Given the description of an element on the screen output the (x, y) to click on. 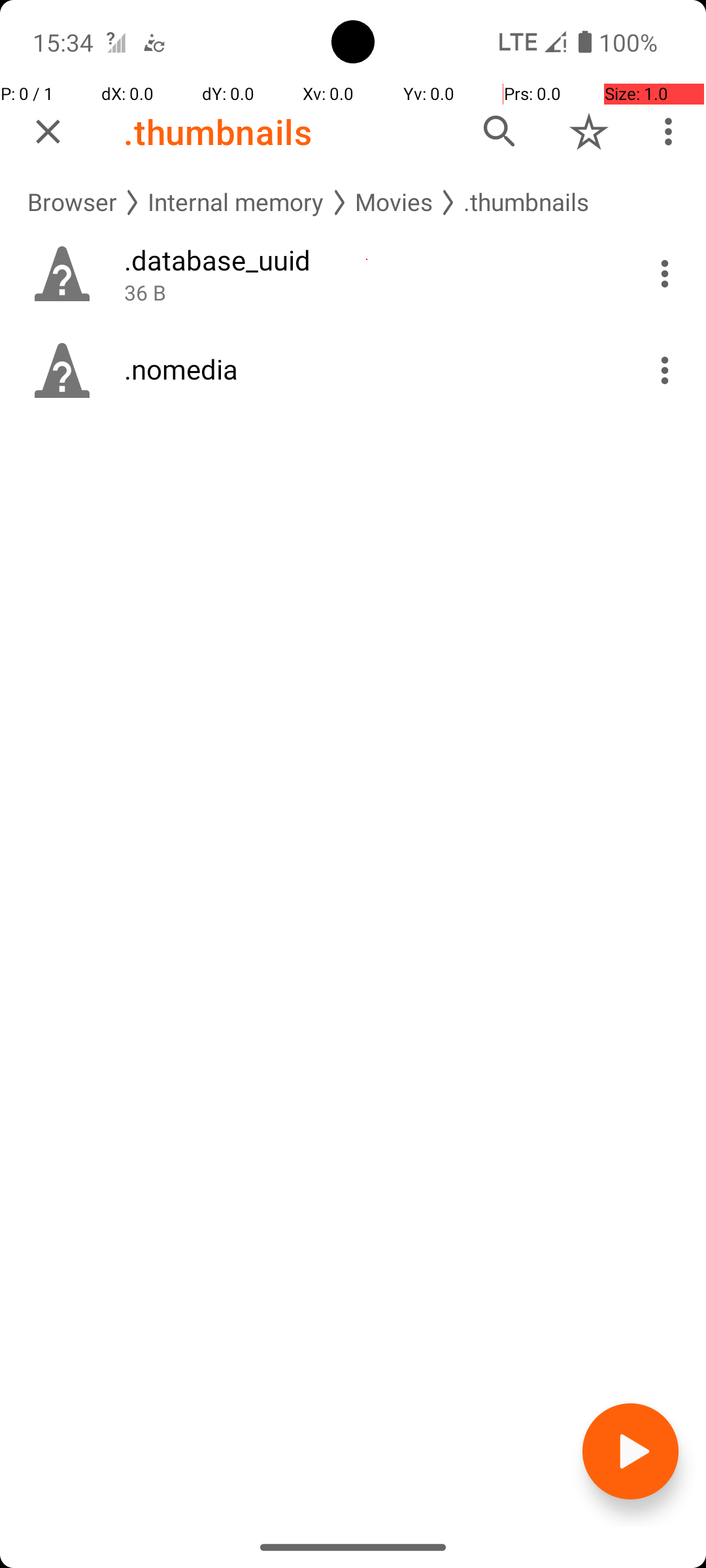
.thumbnails Element type: android.widget.TextView (217, 131)
File: .database_uuid, File size: 36 B Element type: android.view.ViewGroup (353, 273)
File: .nomedia Element type: android.view.ViewGroup (353, 370)
.database_uuid Element type: android.widget.TextView (366, 259)
36 B Element type: android.widget.TextView (366, 292)
.nomedia Element type: android.widget.TextView (366, 368)
